Given the description of an element on the screen output the (x, y) to click on. 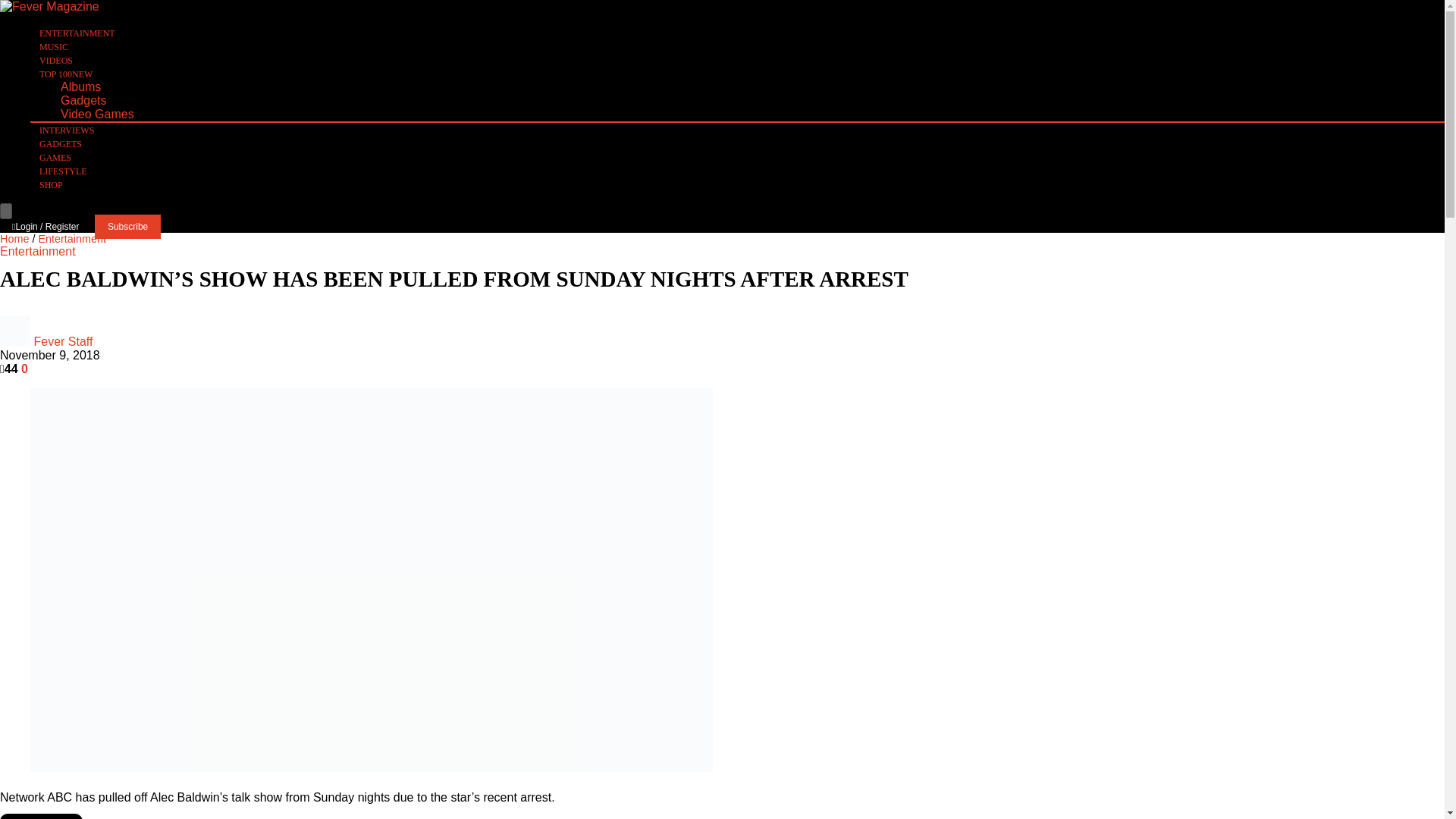
MUSIC (53, 47)
Home (14, 238)
Entertainment (37, 250)
Subscribe (127, 226)
INTERVIEWS (66, 131)
ENTERTAINMENT (76, 34)
SHOP (50, 186)
Video Games (97, 113)
Gadgets (83, 100)
Albums (80, 86)
